Given the description of an element on the screen output the (x, y) to click on. 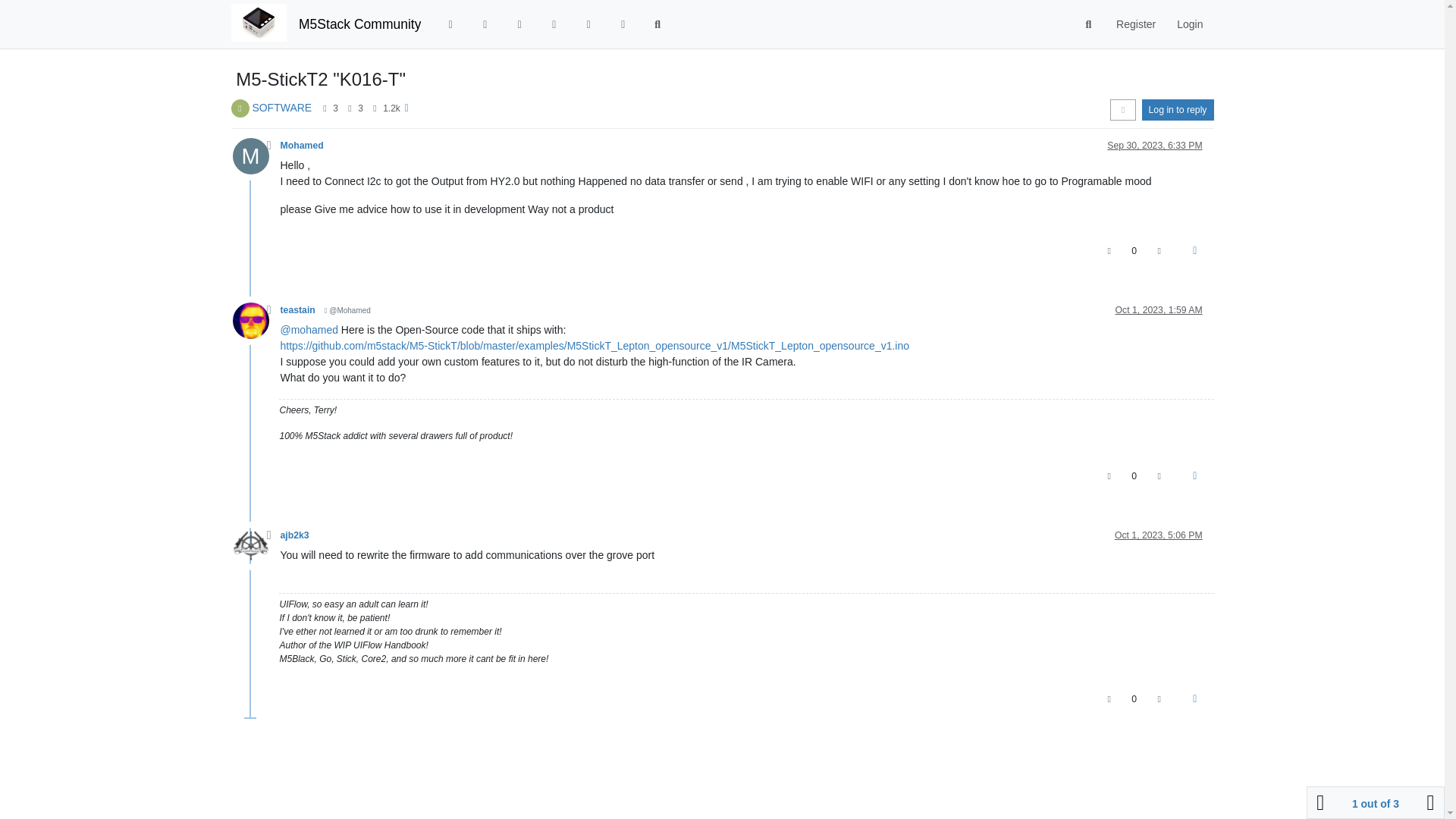
SOFTWARE (281, 107)
Categories (449, 24)
Tags (519, 24)
Login (1189, 24)
Register (1135, 24)
Search (1088, 24)
Search (657, 24)
M5Stack Community (359, 24)
Groups (622, 24)
M (255, 159)
Users (587, 24)
Mohamed (302, 145)
Recent (484, 24)
Log in to reply (1177, 109)
Popular (554, 24)
